Given the description of an element on the screen output the (x, y) to click on. 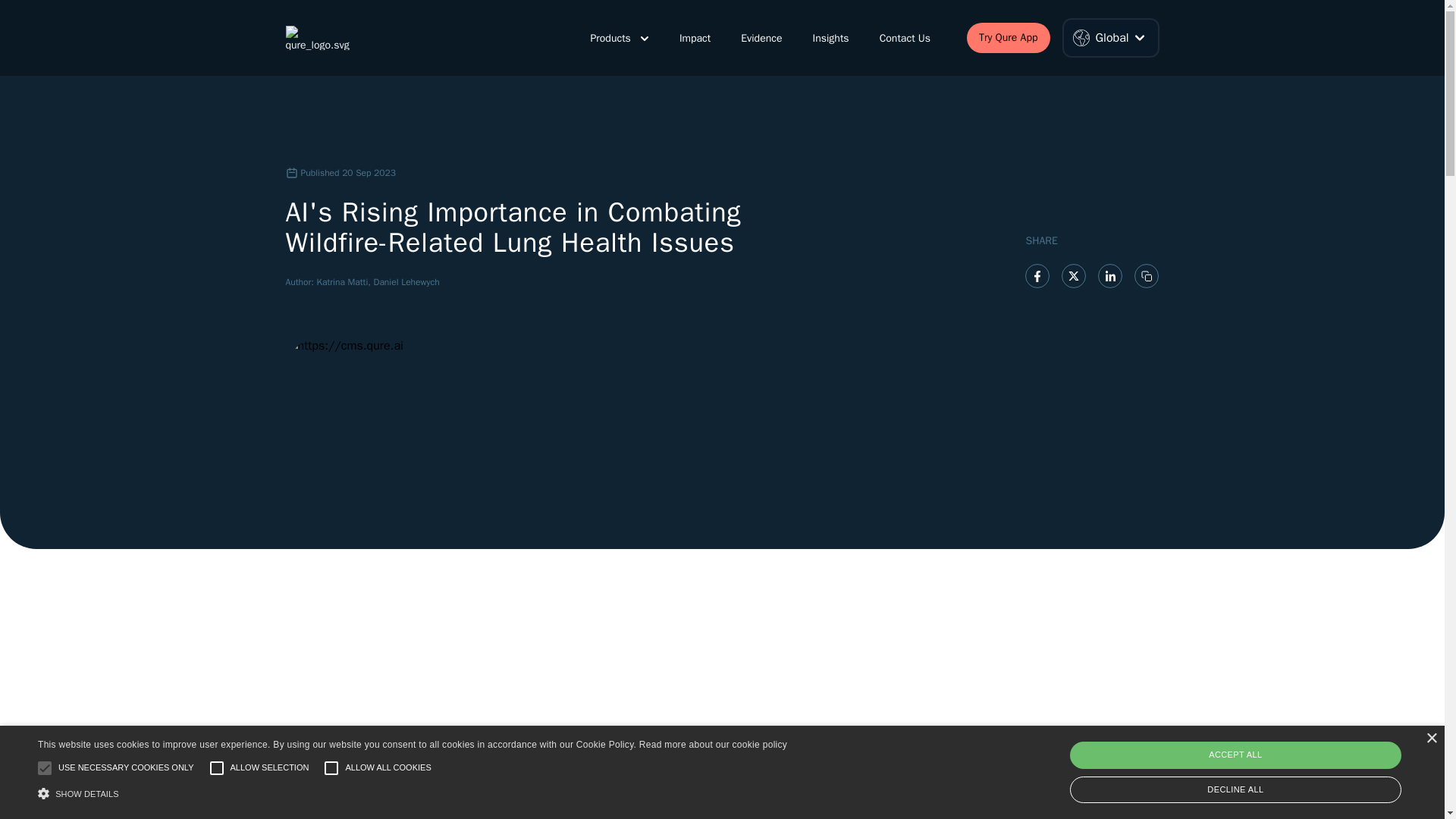
Try Qure App (1007, 37)
Global (1109, 37)
Insights (830, 38)
Products (618, 38)
Back (570, 808)
Evidence (761, 38)
Contact Us (904, 38)
Impact (694, 38)
